Given the description of an element on the screen output the (x, y) to click on. 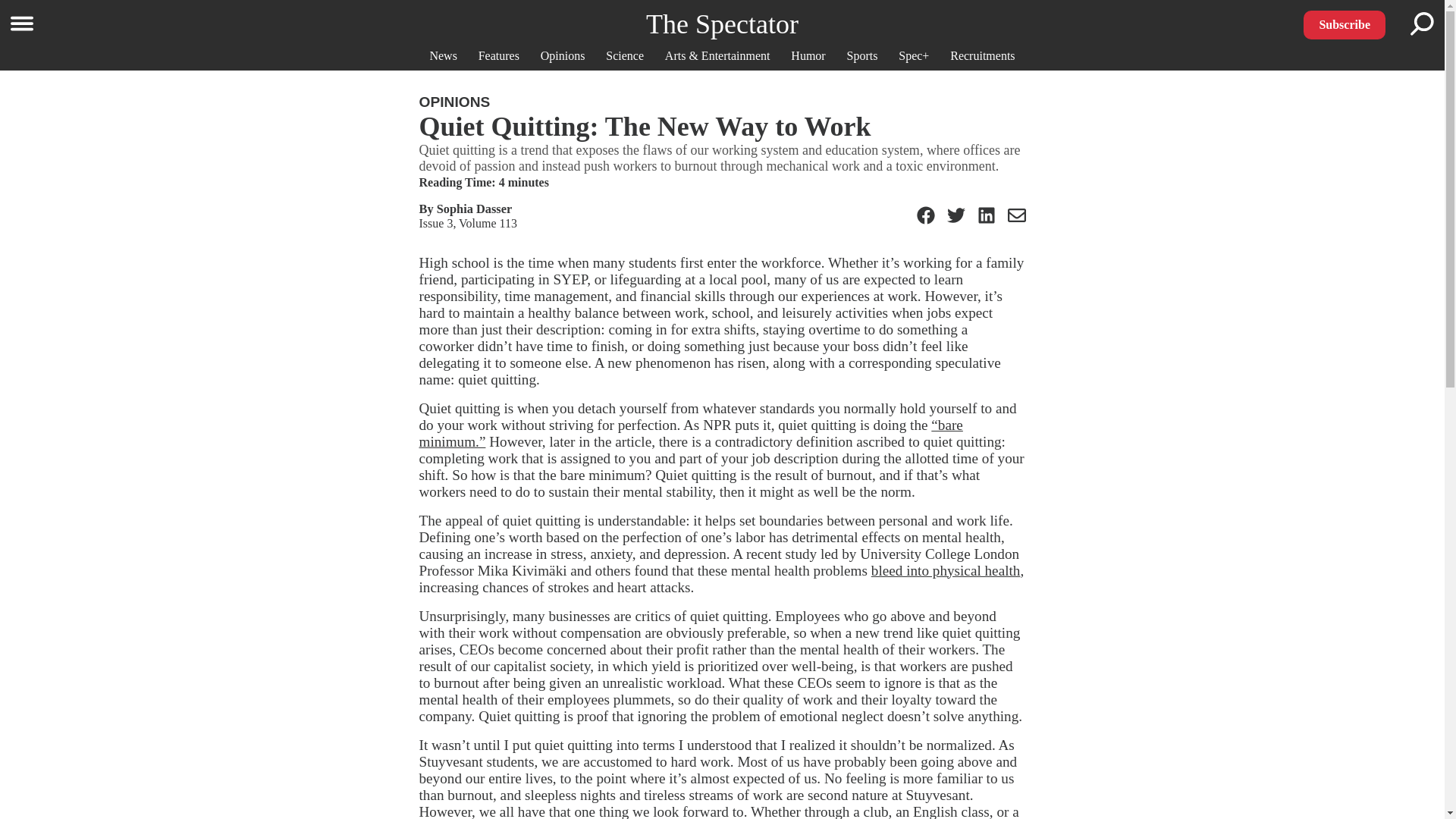
The Spectator (721, 24)
Humor (807, 55)
Subscribe (1344, 24)
Opinions (562, 55)
Recruitments (982, 55)
News (443, 55)
Science (624, 55)
Features (499, 55)
Sports (862, 55)
